Given the description of an element on the screen output the (x, y) to click on. 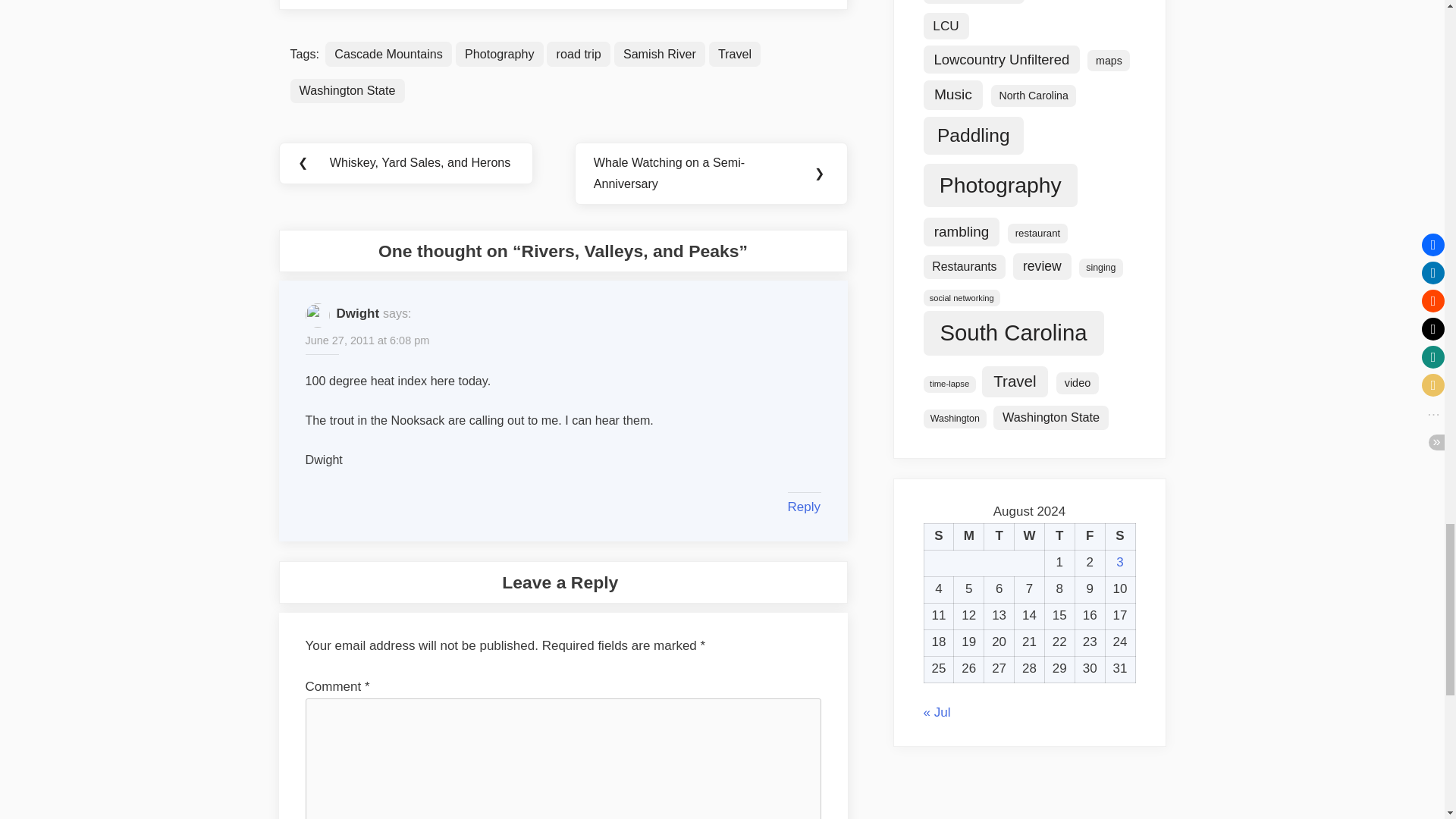
Photography (499, 53)
road trip (578, 53)
Cascade Mountains (387, 53)
